Given the description of an element on the screen output the (x, y) to click on. 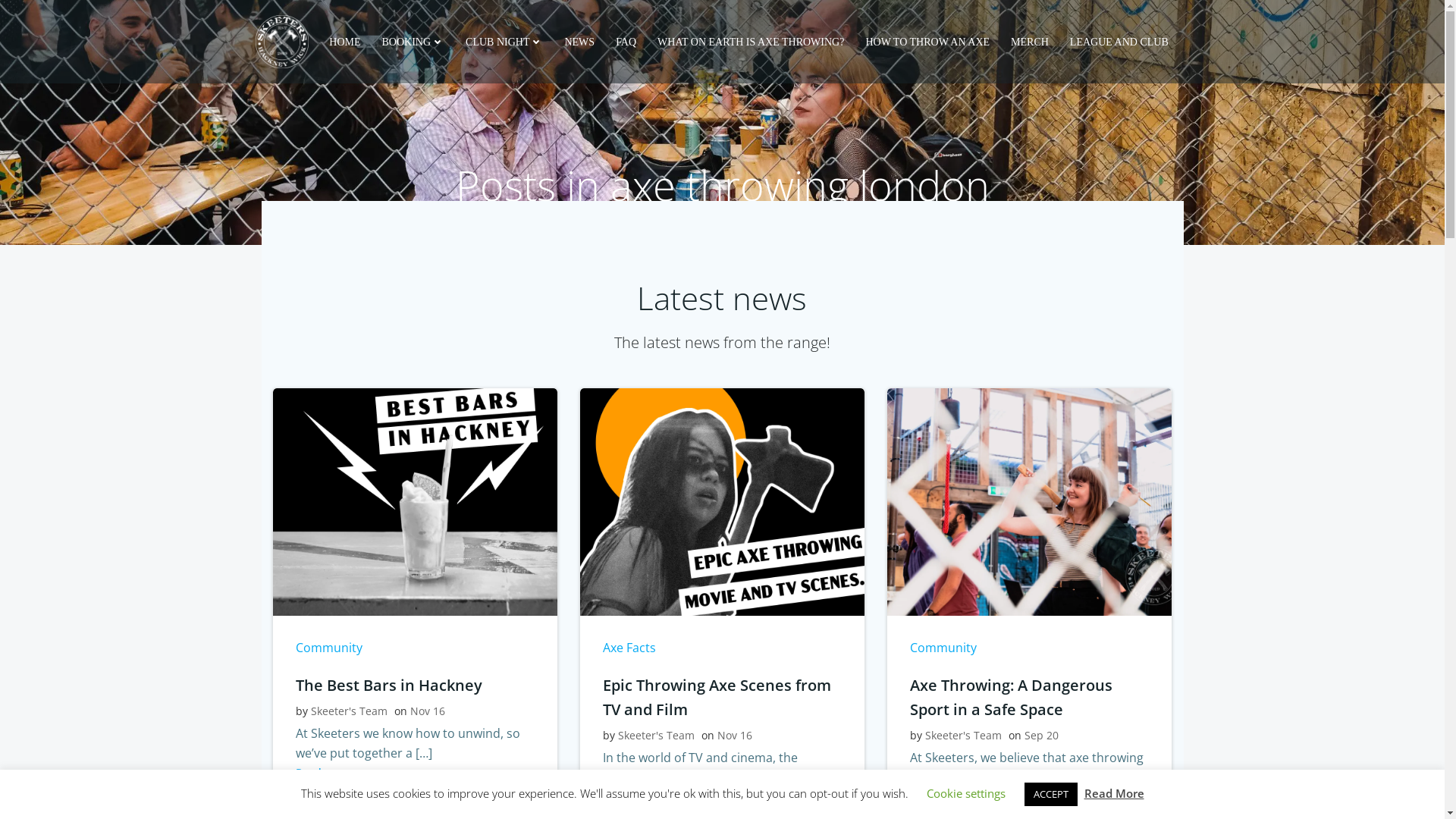
The Best Bars in Hackney Element type: hover (415, 500)
HOW TO THROW AN AXE Element type: text (927, 41)
BOOKING Element type: text (413, 41)
Axe Throwing: A Dangerous Sport in a Safe Space Element type: hover (1029, 500)
Axe Facts Element type: text (628, 647)
Sep 20 Element type: text (1041, 735)
Epic Throwing Axe Scenes from TV and Film Element type: hover (722, 500)
Skeeter's Team Element type: text (656, 735)
Community Element type: text (328, 647)
Read more Element type: text (945, 796)
Community Element type: text (943, 647)
FAQ Element type: text (625, 41)
LEAGUE AND CLUB Element type: text (1119, 41)
CLUB NIGHT Element type: text (503, 41)
The Best Bars in Hackney Element type: text (414, 685)
Axe Throwing: A Dangerous Sport in a Safe Space Element type: text (1029, 697)
Read more Element type: text (637, 796)
Skeeter's Team Element type: text (963, 735)
WHAT ON EARTH IS AXE THROWING? Element type: text (750, 41)
Epic Throwing Axe Scenes from TV and Film Element type: text (721, 697)
Skeeter's Team Element type: text (348, 710)
NEWS Element type: text (579, 41)
ACCEPT Element type: text (1049, 794)
HOME Element type: text (344, 41)
Read more Element type: text (330, 772)
MERCH Element type: text (1029, 41)
Nov 16 Element type: text (734, 735)
Nov 16 Element type: text (426, 710)
Read More Element type: text (1114, 792)
Cookie settings Element type: text (965, 792)
